Given the description of an element on the screen output the (x, y) to click on. 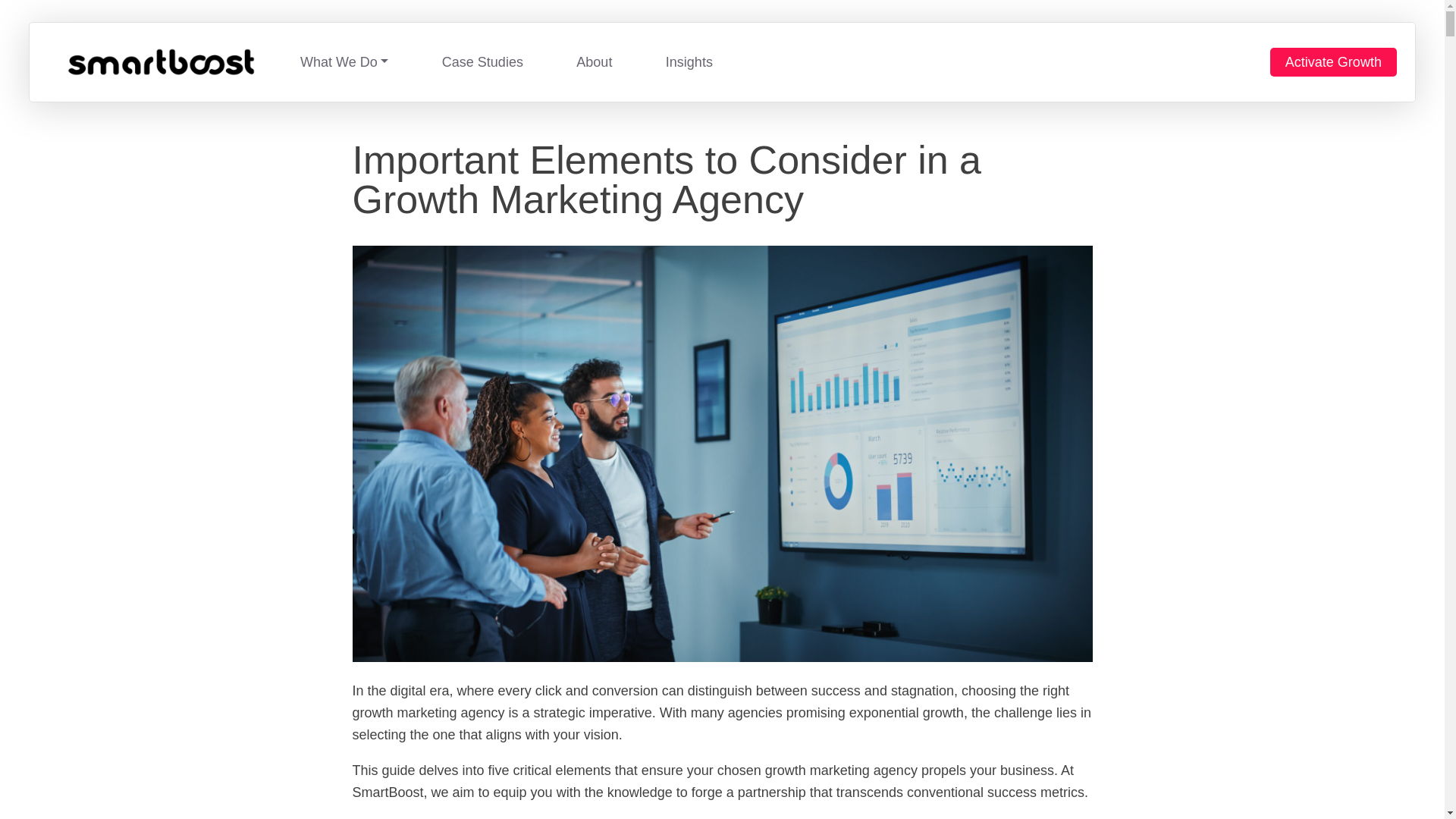
About (593, 62)
Case Studies (482, 62)
Insights (689, 62)
What We Do (344, 62)
Activate Growth (1333, 61)
